Given the description of an element on the screen output the (x, y) to click on. 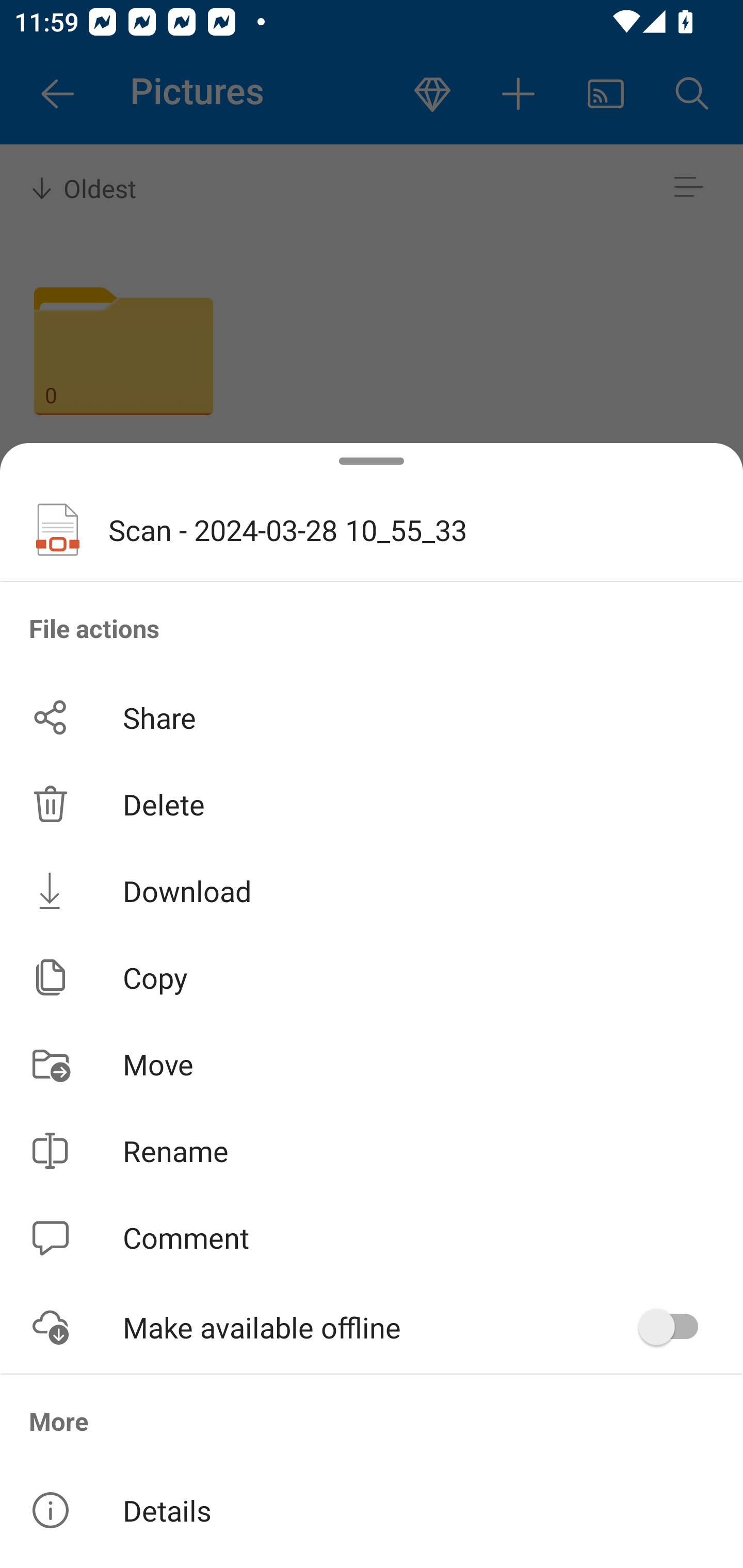
Share button Share (371, 717)
Delete button Delete (371, 803)
Download button Download (371, 890)
Copy button Copy (371, 977)
Move button Move (371, 1063)
Rename button Rename (371, 1150)
Comment button Comment (371, 1237)
Make offline operation (674, 1327)
Details button Details (371, 1510)
